Given the description of an element on the screen output the (x, y) to click on. 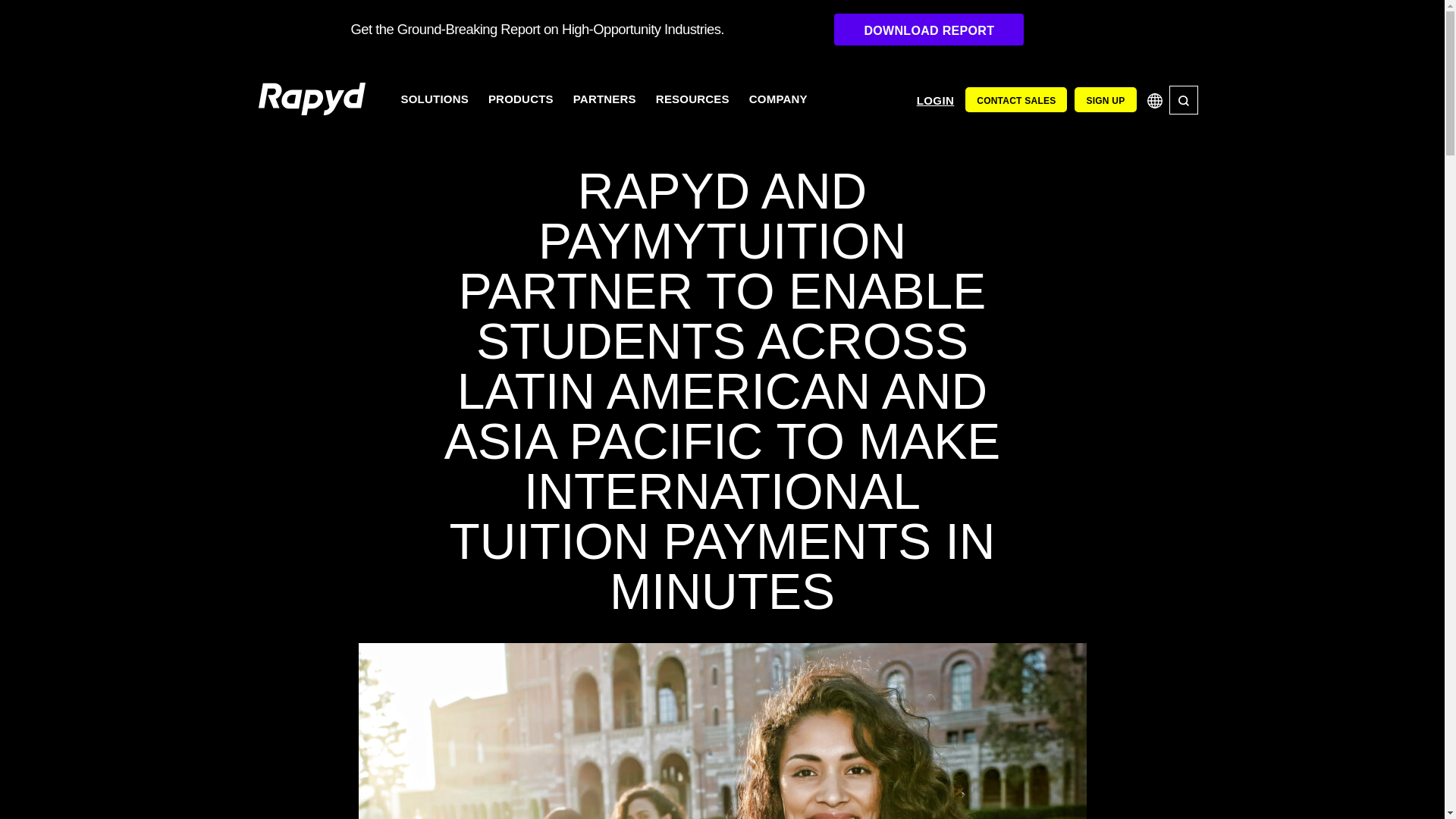
PARTNERS (604, 98)
SOLUTIONS (435, 98)
PRODUCTS (521, 98)
DOWNLOAD REPORT (928, 29)
